Given the description of an element on the screen output the (x, y) to click on. 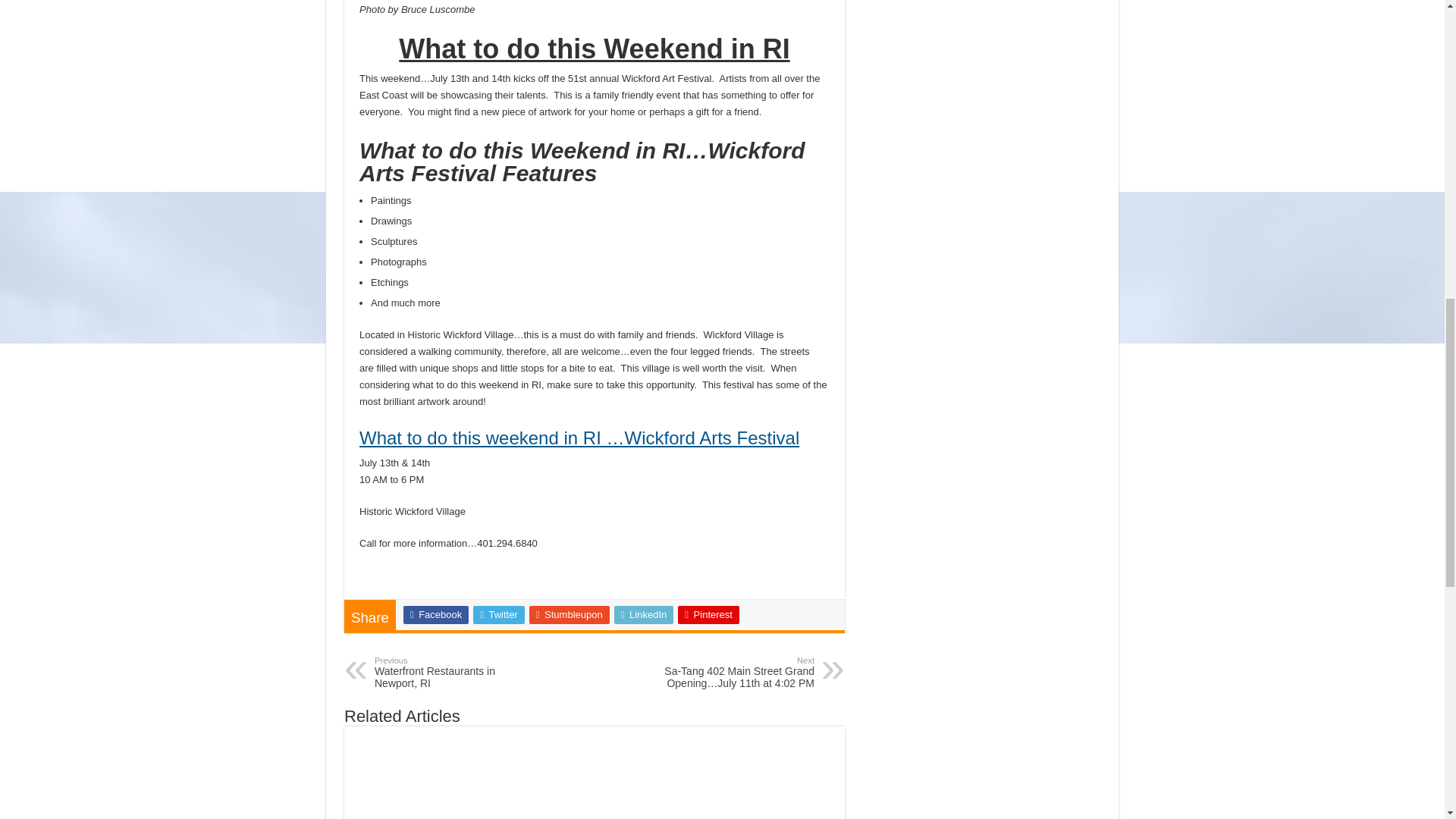
Stumbleupon (569, 615)
LinkedIn (644, 615)
Pinterest (708, 615)
Twitter (498, 615)
Facebook (435, 615)
